Given the description of an element on the screen output the (x, y) to click on. 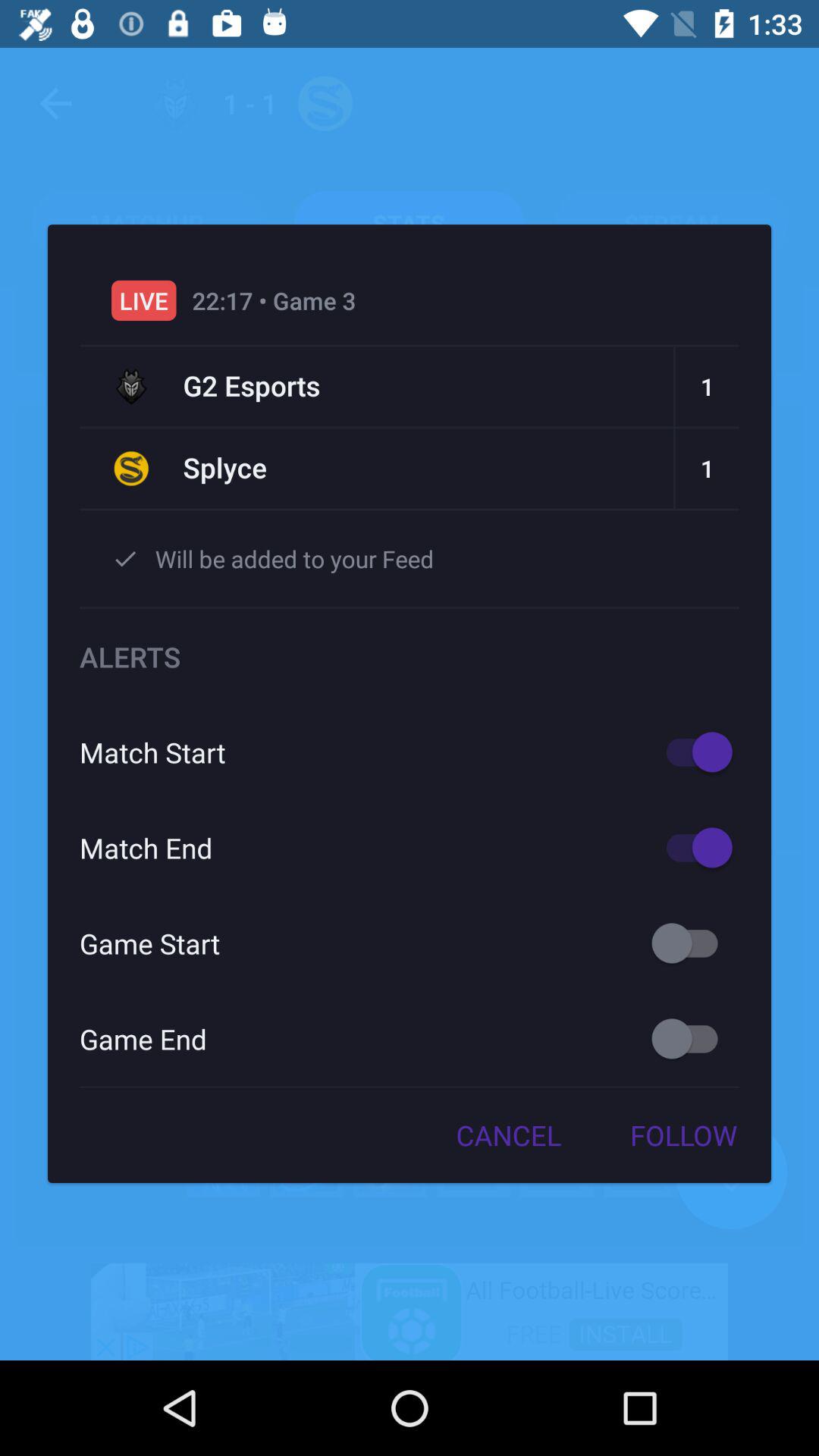
go back game end option (691, 1038)
